Given the description of an element on the screen output the (x, y) to click on. 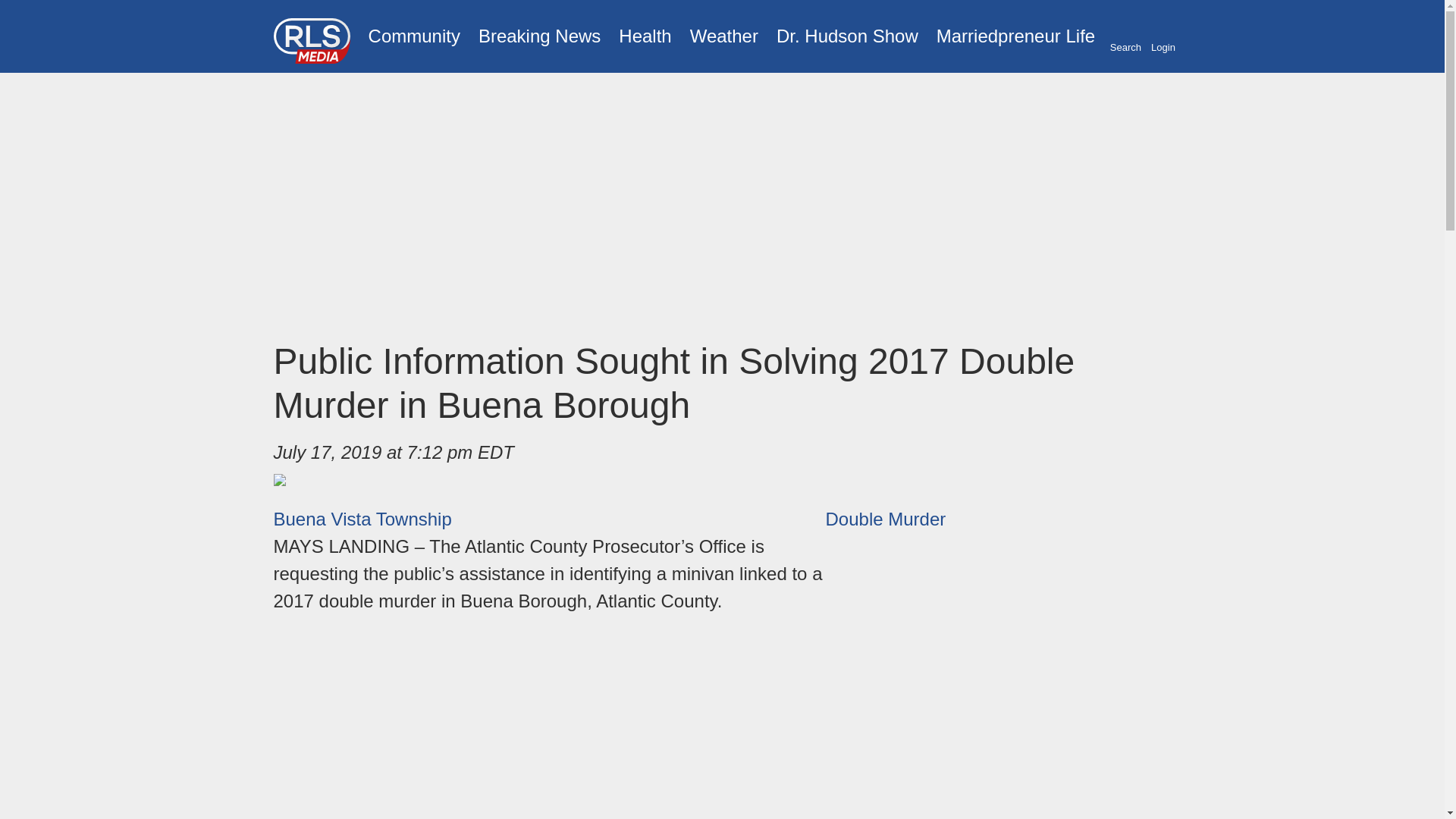
Marriedpreneur Life (1015, 36)
Breaking News (539, 36)
Community News (413, 36)
Local Weather (724, 36)
Flying on Broken Dreams (847, 36)
Double Murder (884, 518)
Buena Vista Township (362, 518)
Health (644, 36)
